Given the description of an element on the screen output the (x, y) to click on. 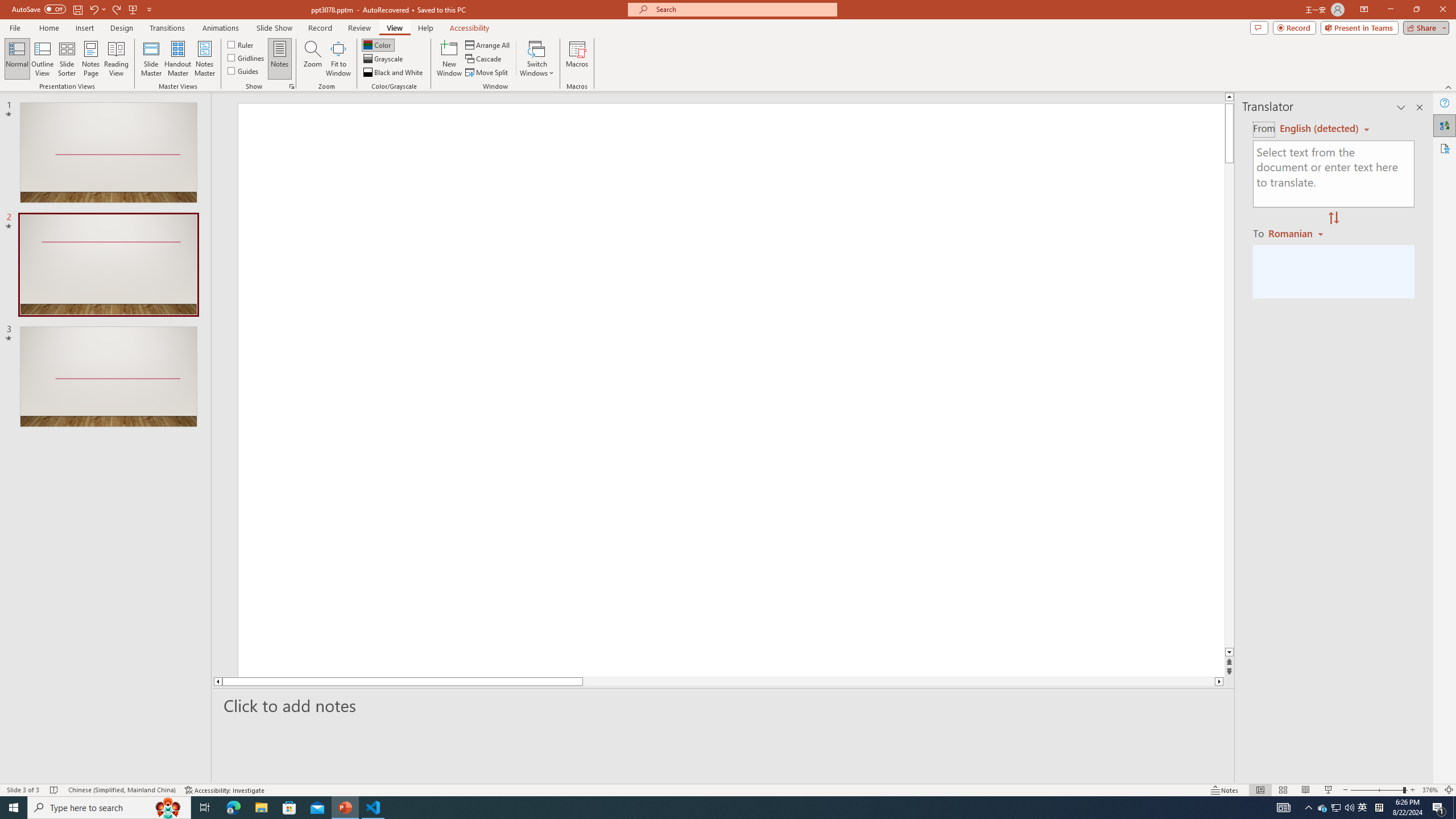
Notes (279, 58)
Notes Master (204, 58)
